Given the description of an element on the screen output the (x, y) to click on. 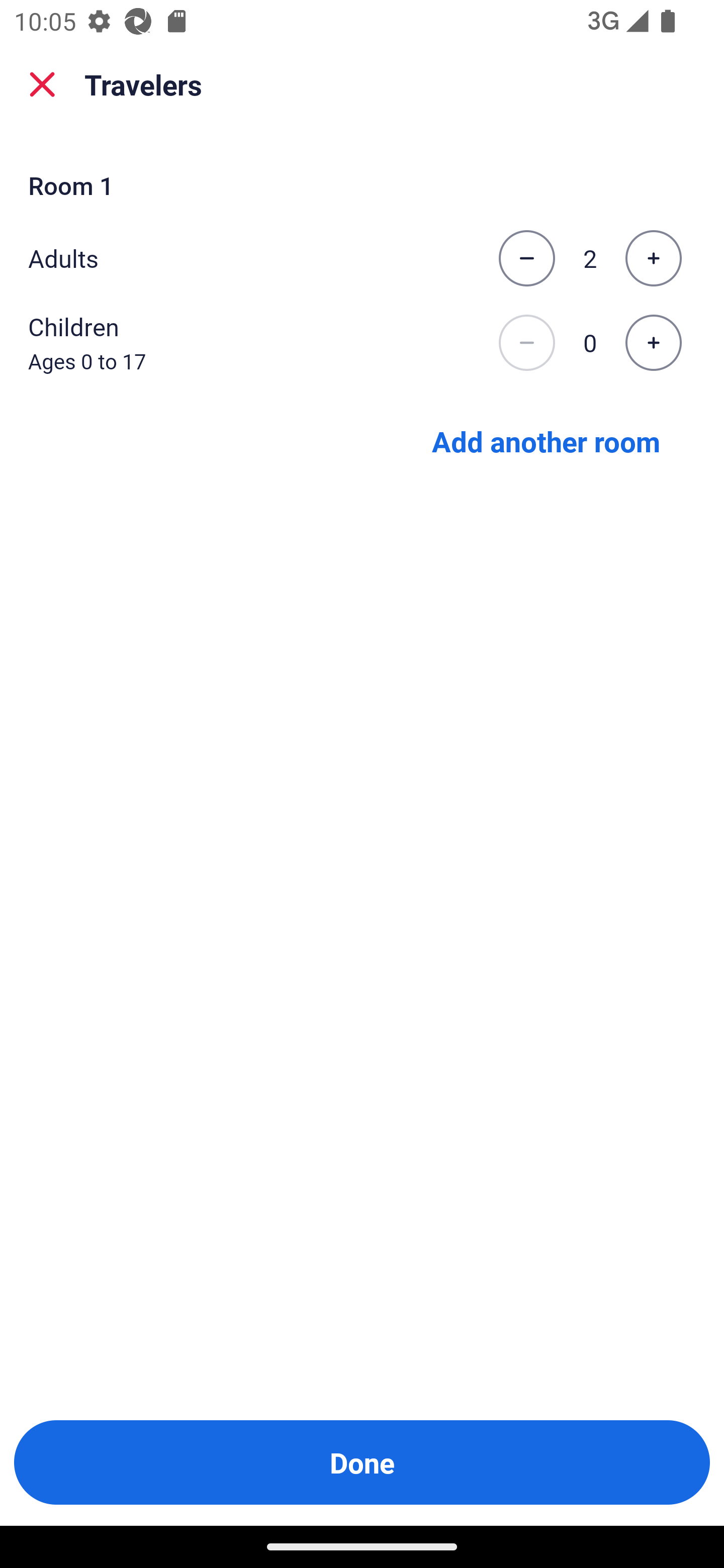
close (42, 84)
Decrease the number of adults (526, 258)
Increase the number of adults (653, 258)
Decrease the number of children (526, 343)
Increase the number of children (653, 343)
Add another room (545, 440)
Done (361, 1462)
